Given the description of an element on the screen output the (x, y) to click on. 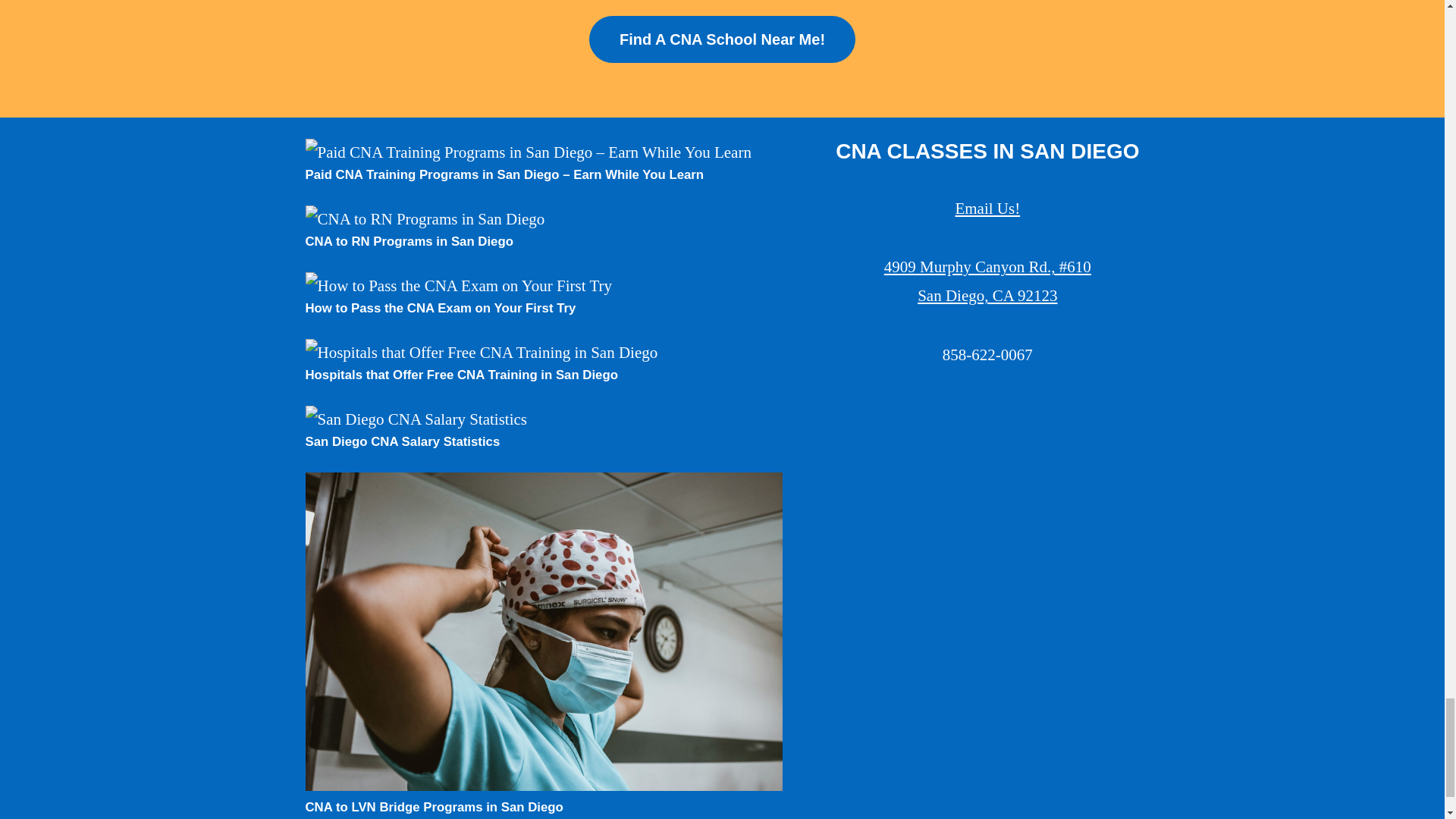
Hospitals that Offer Free CNA Training in San Diego (460, 374)
Find A CNA School Near Me! (722, 39)
How to Pass the CNA Exam on Your First Try (439, 308)
CNA to RN Programs in San Diego (408, 241)
